Given the description of an element on the screen output the (x, y) to click on. 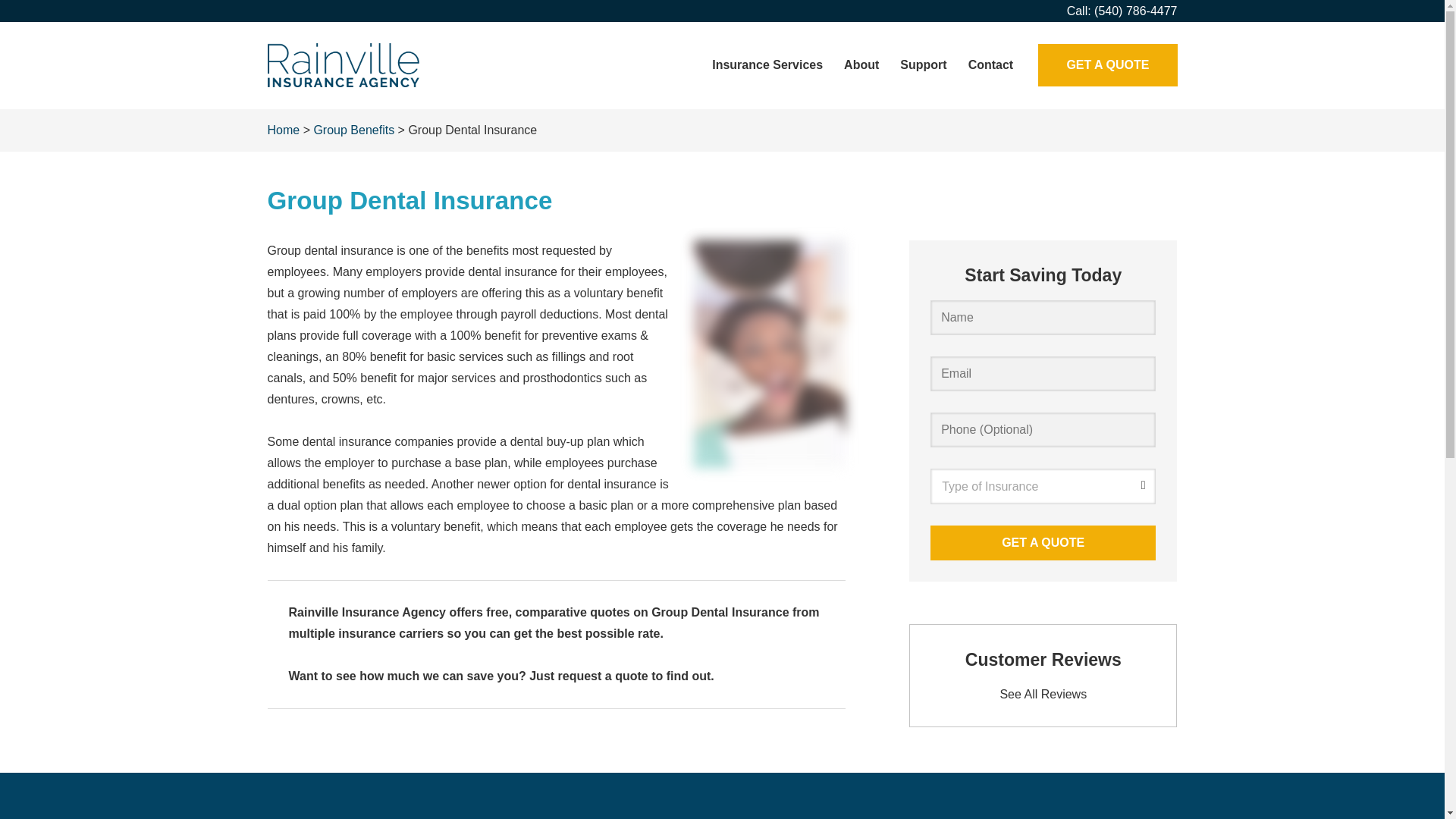
Insurance Services (766, 65)
About (860, 65)
Get A Quote (1043, 542)
